Given the description of an element on the screen output the (x, y) to click on. 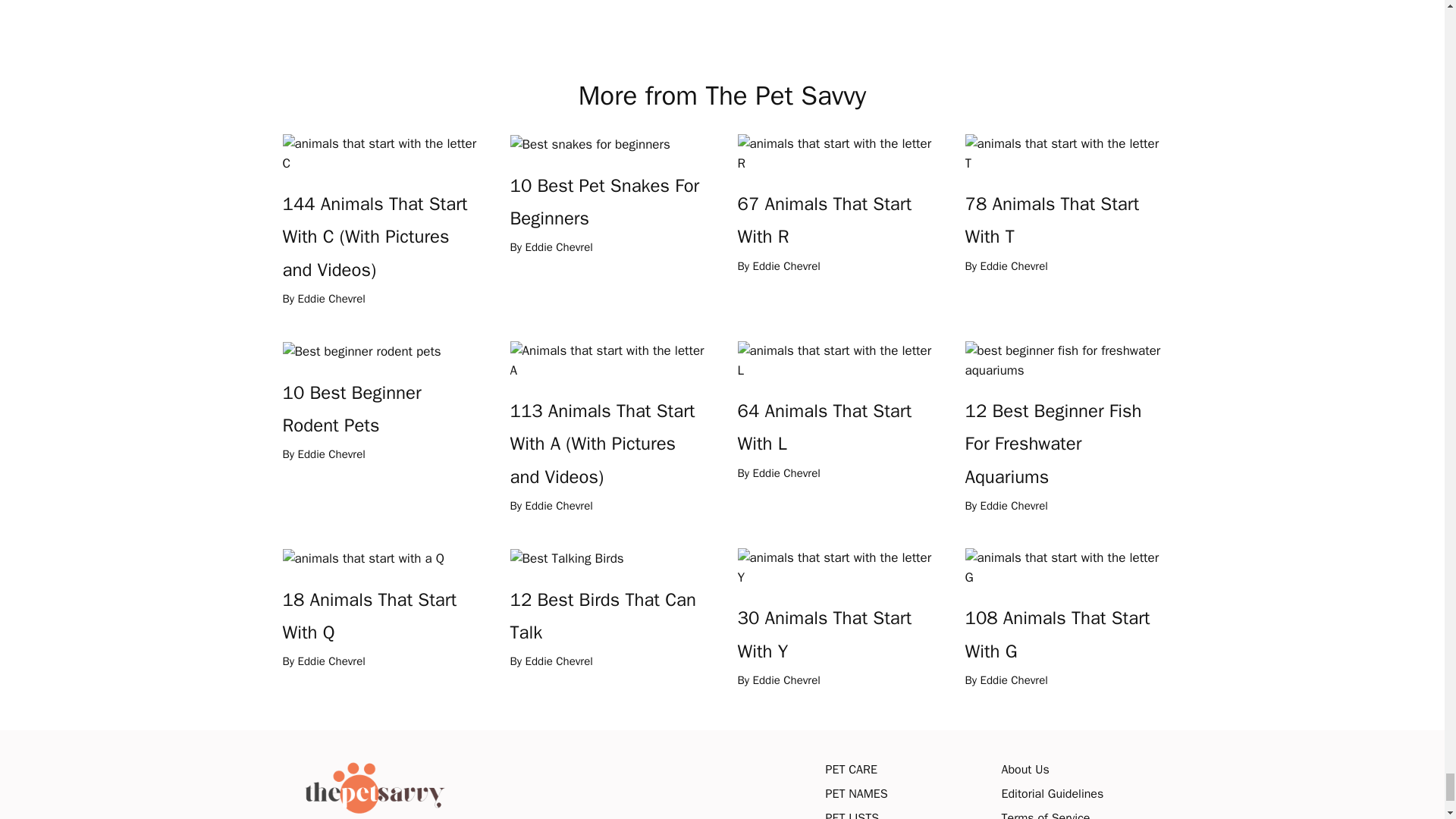
logo (372, 787)
